Given the description of an element on the screen output the (x, y) to click on. 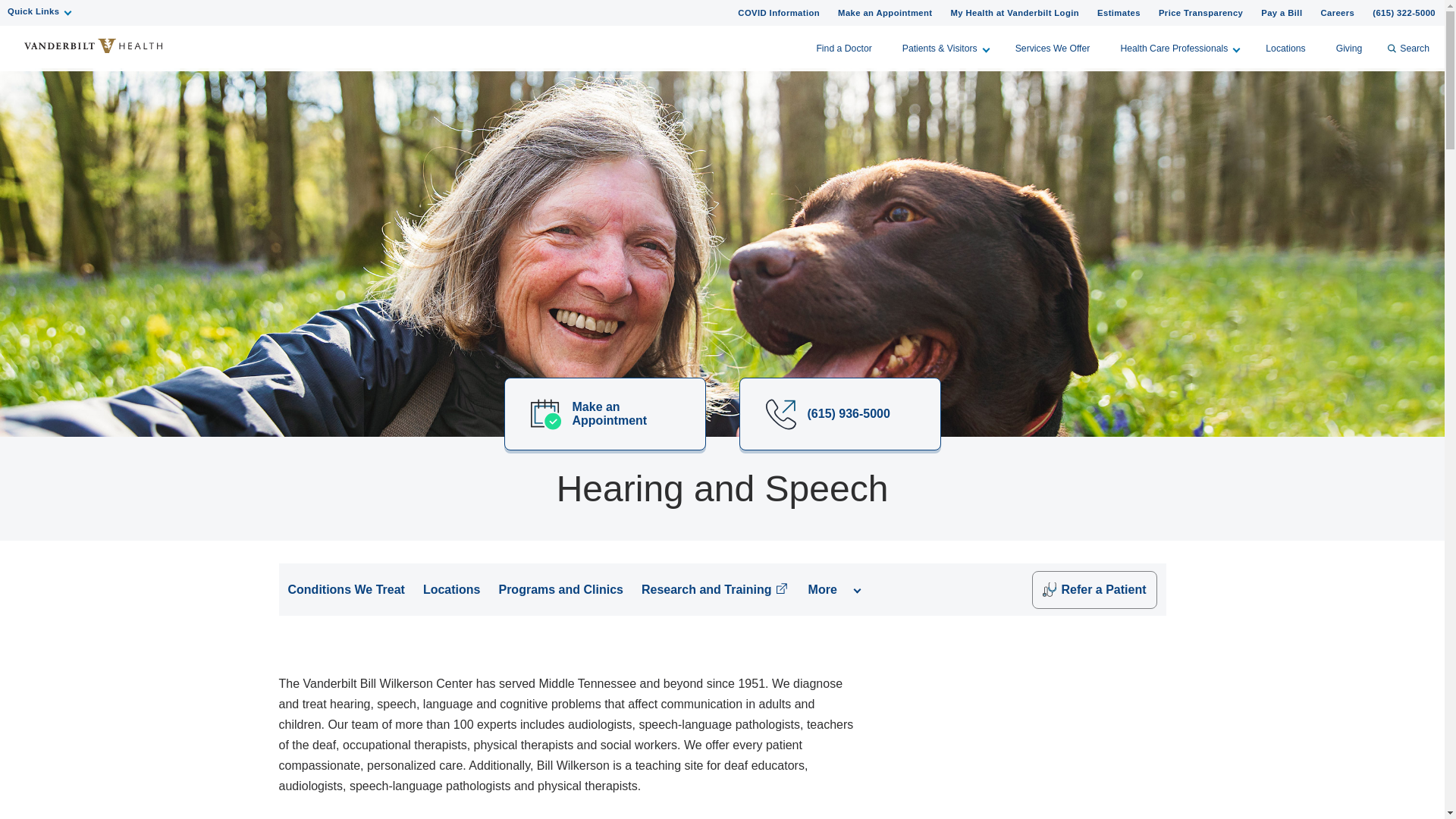
Find a Doctor (843, 48)
My Health at Vanderbilt Login (1013, 12)
Vanderbilt Health (93, 46)
Pay a Bill (1281, 12)
Price Transparency (1201, 12)
Make an Appointment (884, 12)
Careers (1336, 12)
Estimates (1118, 12)
Health Care Professionals (1177, 48)
COVID Information (778, 12)
stethoscope icon (1049, 589)
Services We Offer (1052, 48)
Locations (1285, 48)
Giving (1348, 48)
